Given the description of an element on the screen output the (x, y) to click on. 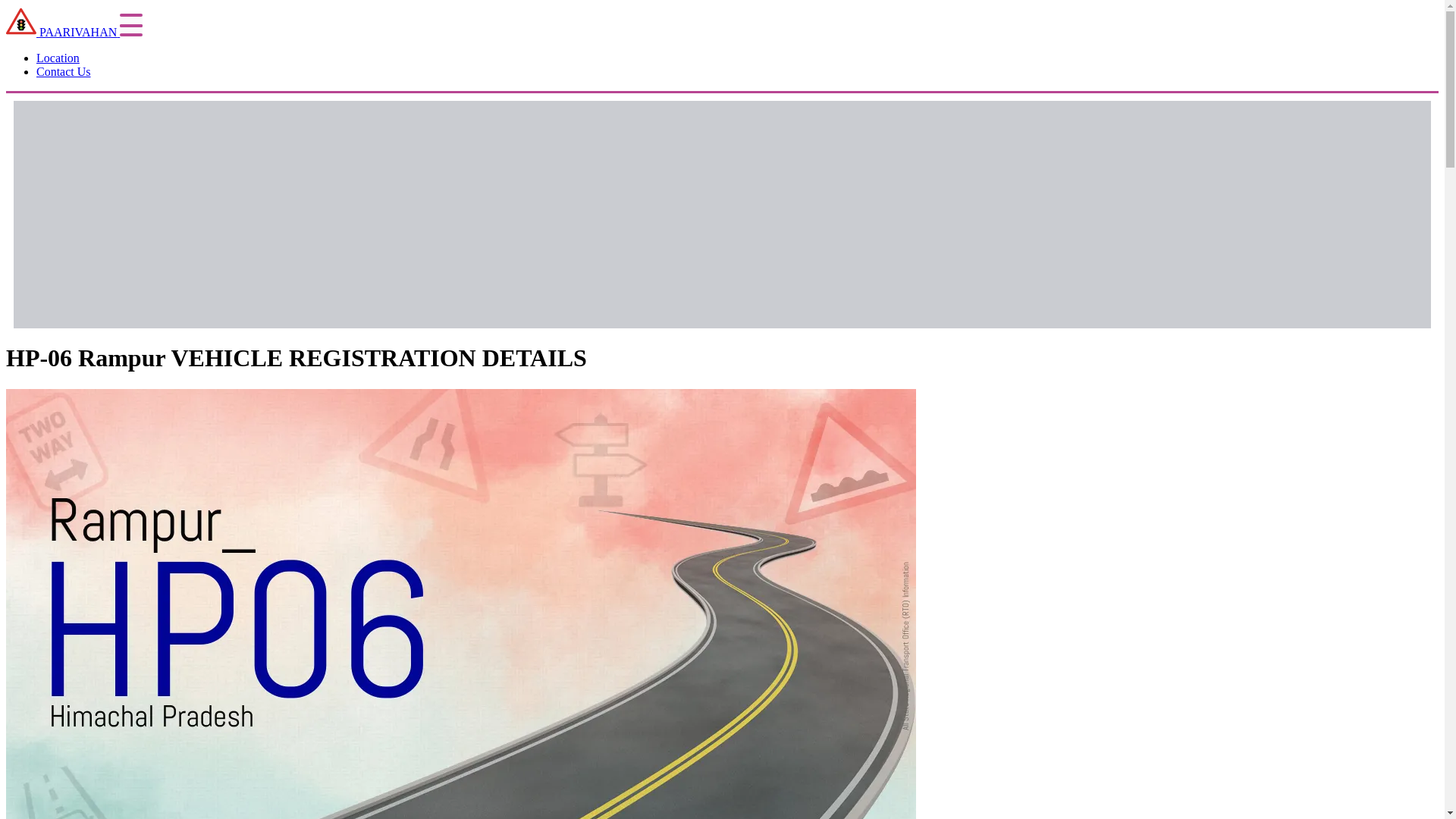
Contact Us (63, 71)
Location (58, 57)
